Given the description of an element on the screen output the (x, y) to click on. 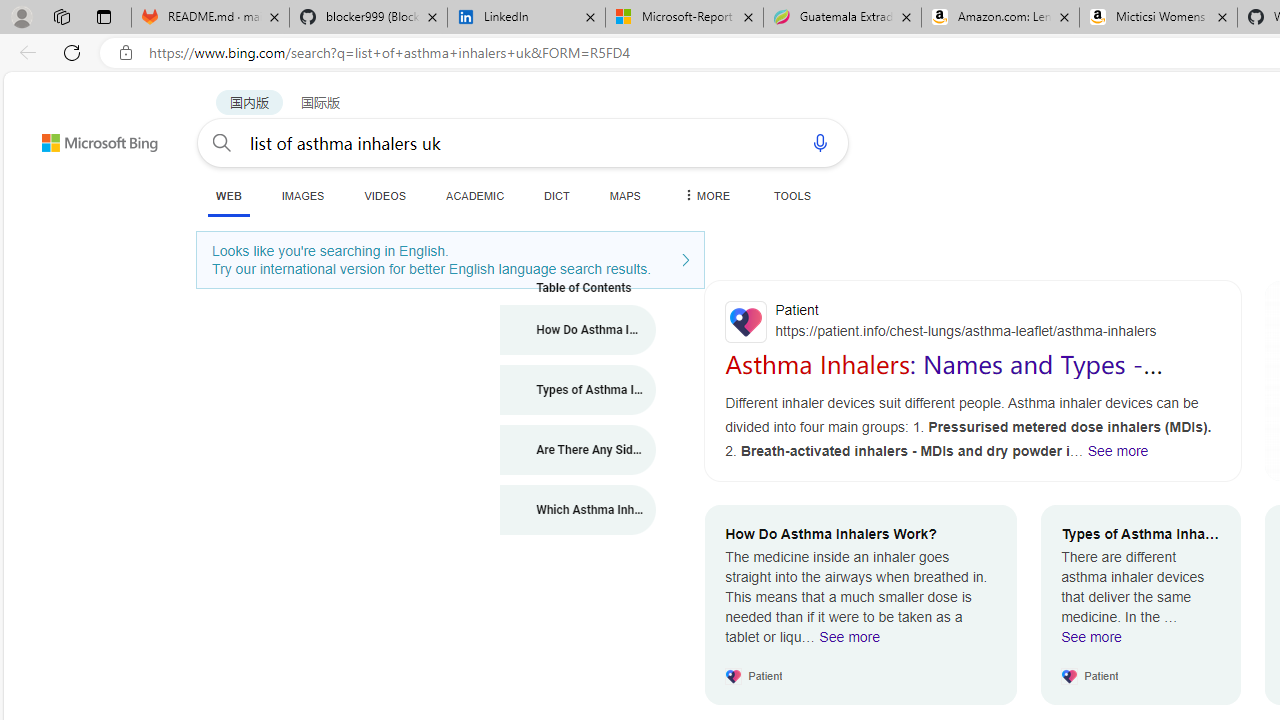
Back to Bing search (87, 138)
